Given the description of an element on the screen output the (x, y) to click on. 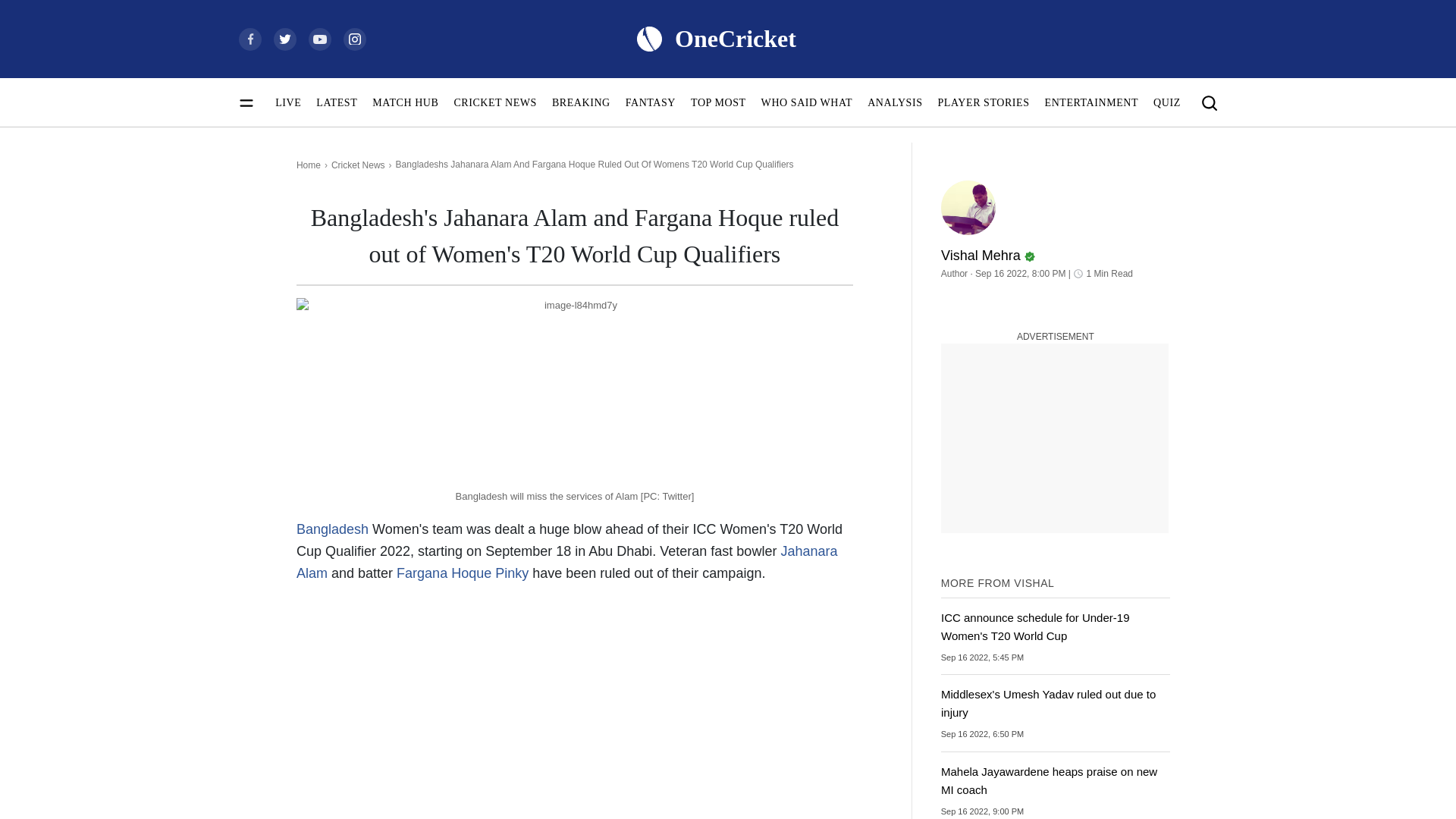
OneCricket (715, 38)
CRICKET NEWS (494, 102)
Fargana Hoque Pinky (462, 572)
TOP MOST (717, 102)
Vishal Mehra (1055, 249)
MATCH HUB (405, 102)
Home (308, 164)
BREAKING (580, 102)
ENTERTAINMENT (1091, 102)
ICC announce schedule for Under-19 Women's T20 World Cup (1055, 636)
Mahela Jayawardene heaps praise on new MI coach (1055, 790)
LIVE (288, 102)
